Given the description of an element on the screen output the (x, y) to click on. 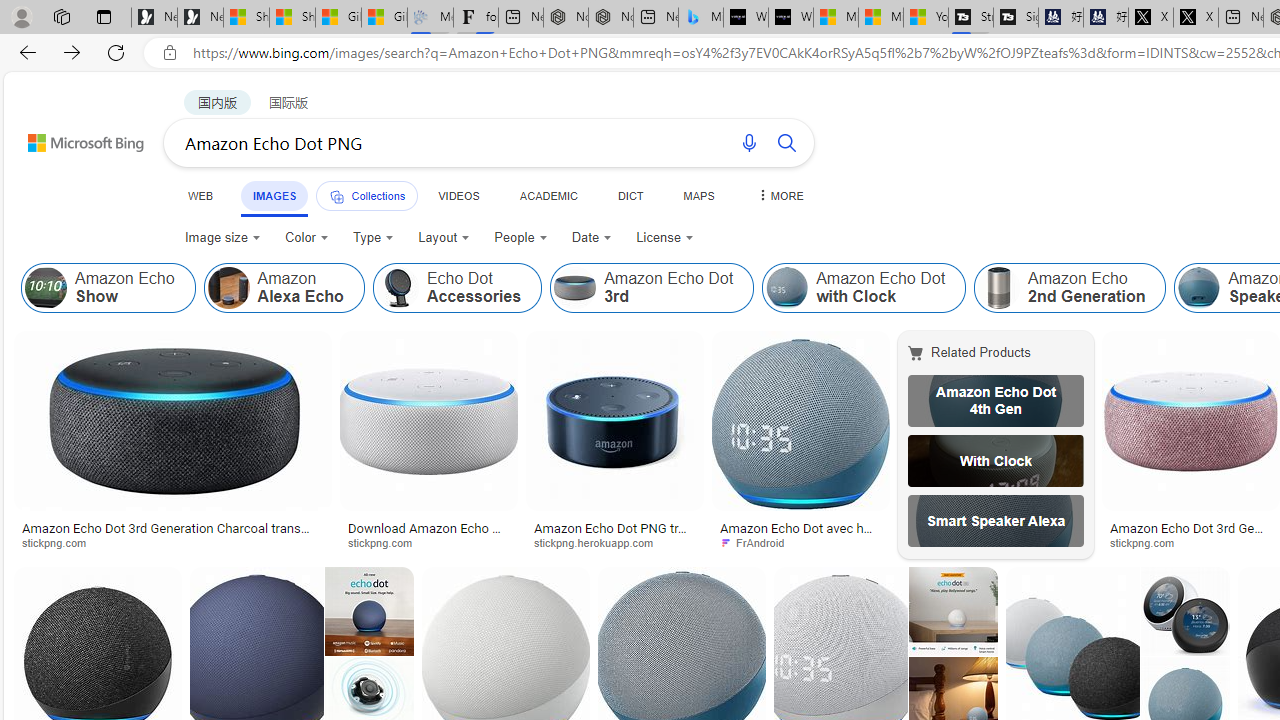
Amazon Echo 2nd Generation (1070, 287)
Amazon Echo Show (107, 287)
VIDEOS (458, 195)
VIDEOS (458, 195)
Amazon Alexa Echo (228, 287)
Smart Speaker Alexa Echo Dot (995, 521)
Type (372, 237)
License (665, 237)
